Given the description of an element on the screen output the (x, y) to click on. 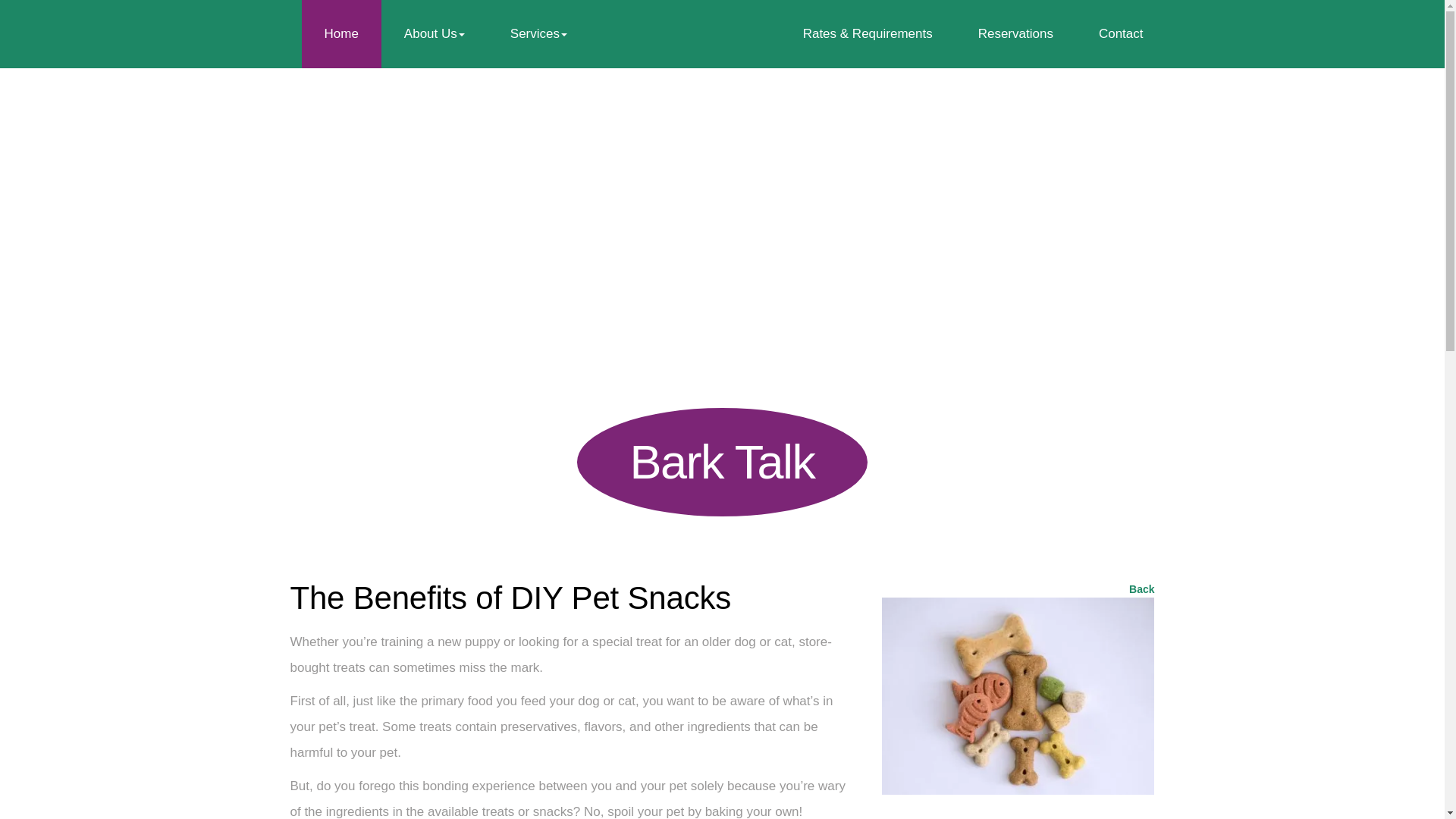
About Us (434, 33)
Home (341, 33)
Contact (1120, 33)
Reservations (1015, 33)
Back (1141, 589)
Services (538, 33)
